Given the description of an element on the screen output the (x, y) to click on. 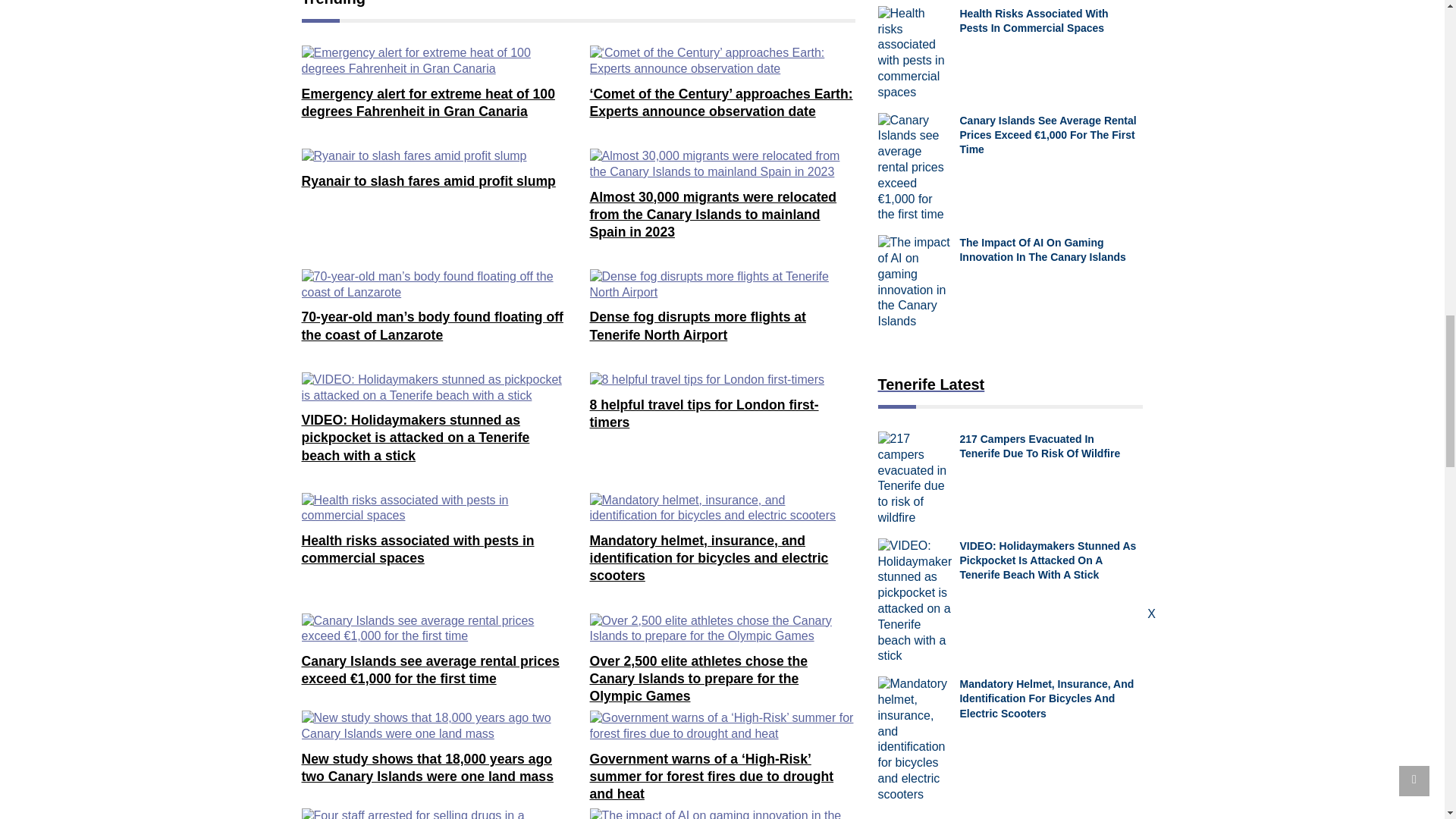
8 helpful travel tips for London first-timers (706, 380)
Health risks associated with pests in commercial spaces (434, 508)
Ryanair to slash fares amid profit slump (414, 156)
Dense fog disrupts more flights at Tenerife North Airport  (722, 285)
